Given the description of an element on the screen output the (x, y) to click on. 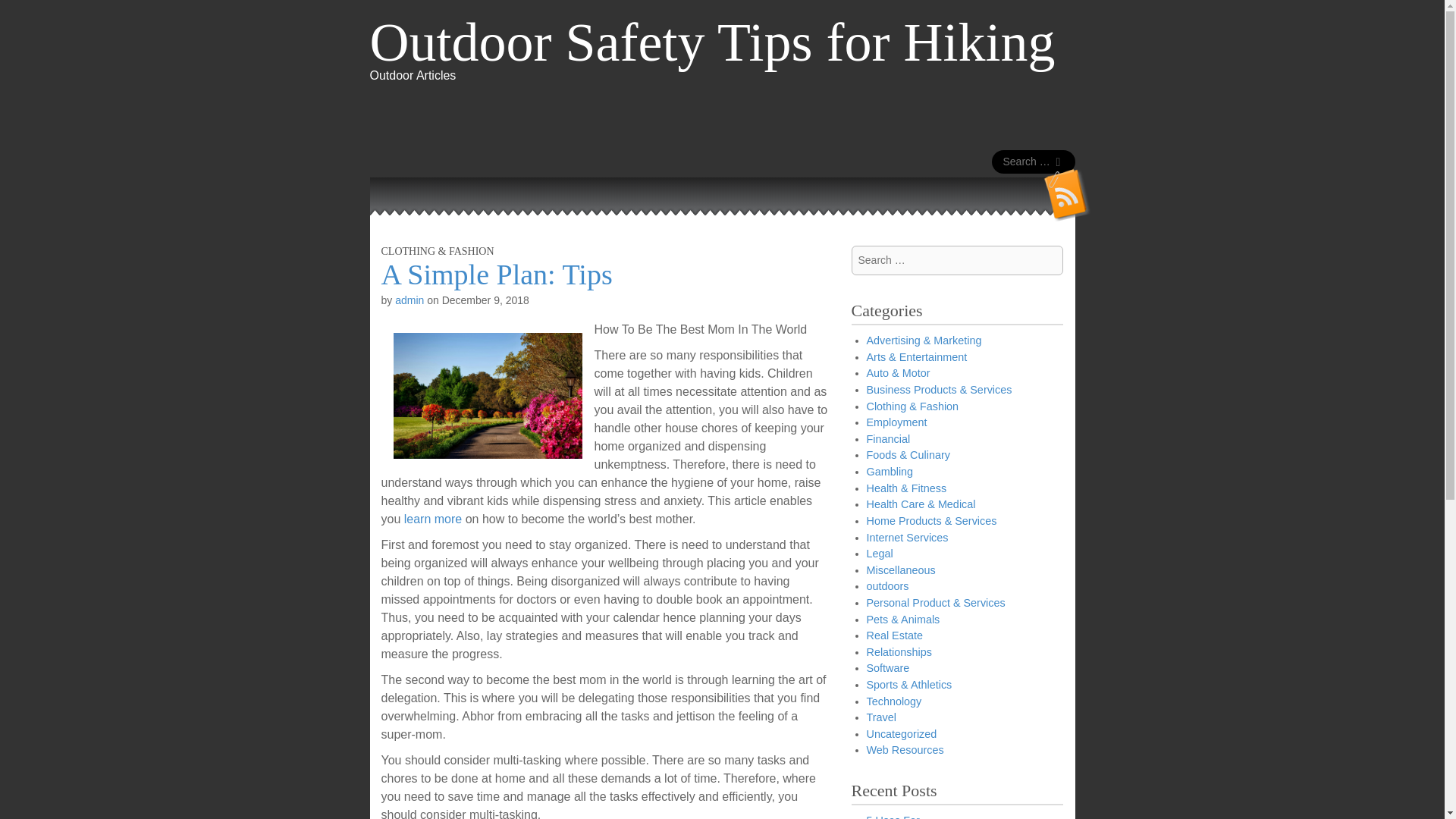
Uncategorized (901, 734)
Relationships (898, 652)
admin (408, 300)
Real Estate (893, 635)
Gambling (889, 471)
Outdoor Safety Tips for Hiking (712, 42)
Technology (893, 701)
outdoors (887, 585)
learn more (434, 518)
